Given the description of an element on the screen output the (x, y) to click on. 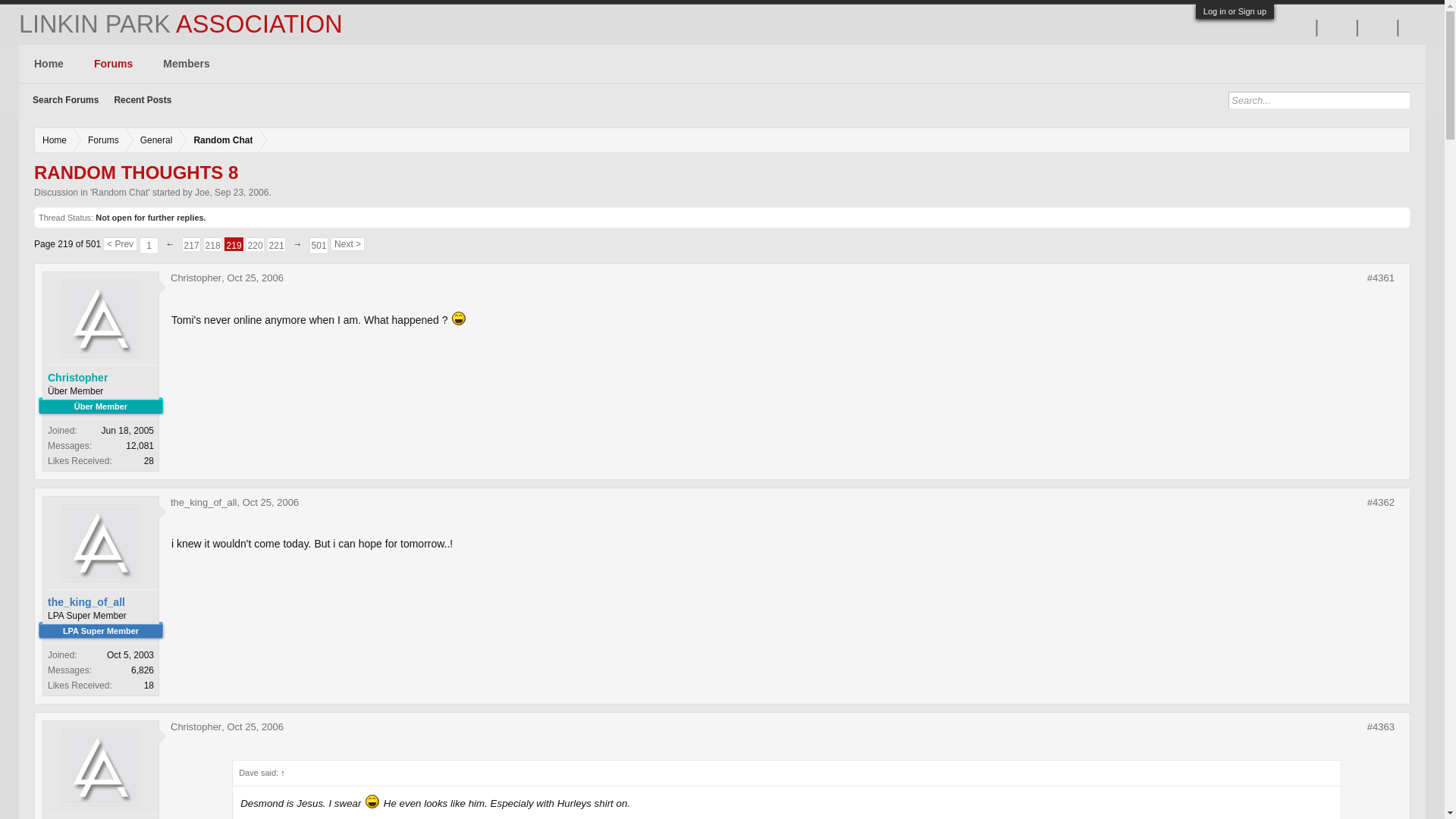
Sep 23, 2006 (240, 192)
Permalink (1380, 726)
Random Chat (119, 192)
1 (148, 245)
Forums (100, 140)
Permalink (1380, 278)
221 (275, 245)
Christopher (195, 726)
218 (212, 245)
Joe (202, 192)
Oct 25, 2006 (270, 501)
Lol    :lol: (458, 318)
12,081 (233, 243)
Permalink (139, 445)
